Given the description of an element on the screen output the (x, y) to click on. 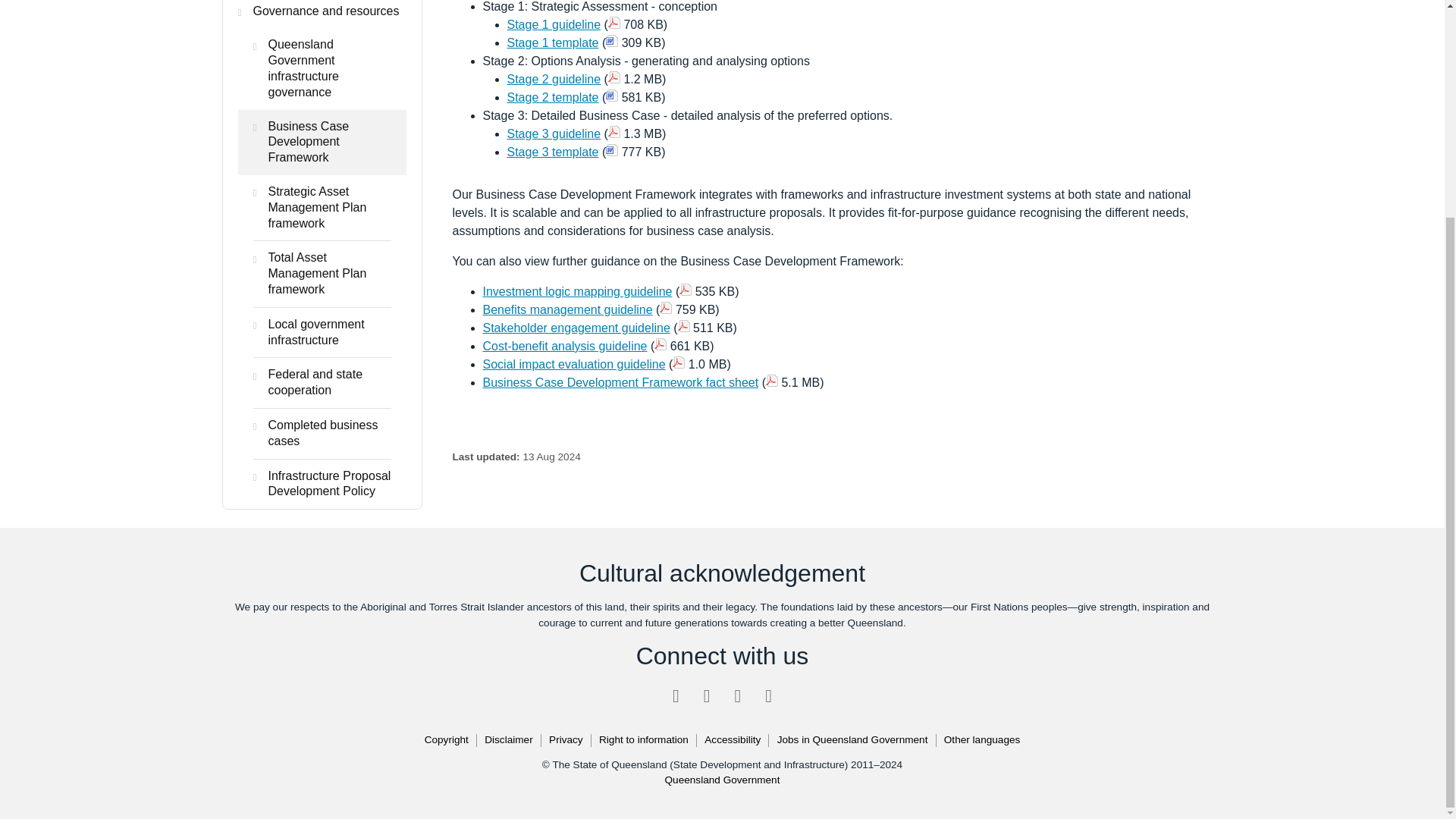
Word document (611, 150)
pdf (614, 132)
Word document (611, 95)
pdf (685, 289)
pdf (614, 22)
pdf (678, 362)
pdf (684, 326)
pdf (665, 307)
Word document (611, 40)
pdf (771, 380)
